Given the description of an element on the screen output the (x, y) to click on. 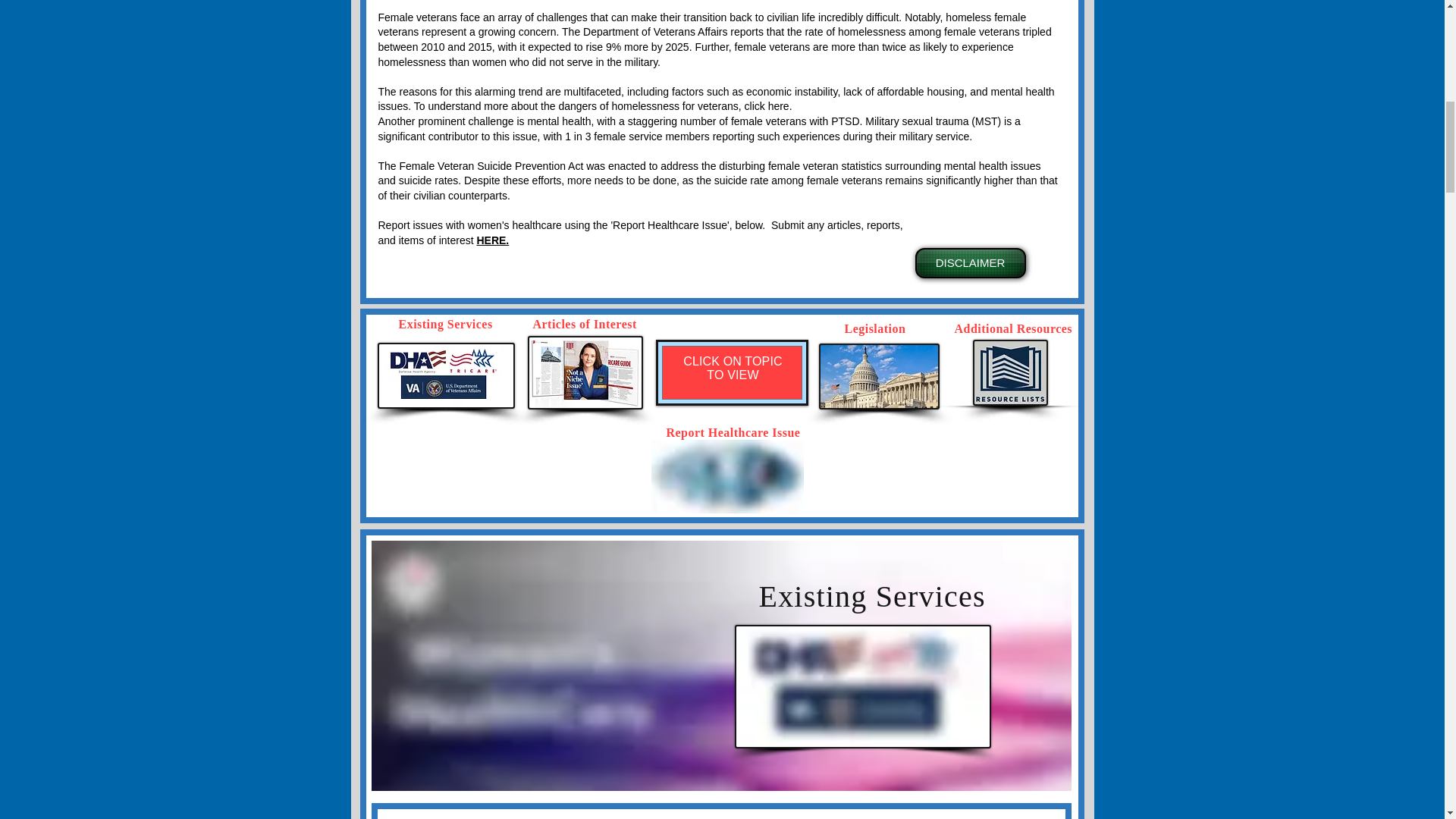
1 in 3 female service members (637, 136)
Female Veteran Suicide Prevention Act (490, 165)
tripled between 2010 and 2015 (714, 39)
significantly higher (969, 180)
 here (777, 105)
more than twice as likely (889, 46)
HERE. (492, 240)
